Given the description of an element on the screen output the (x, y) to click on. 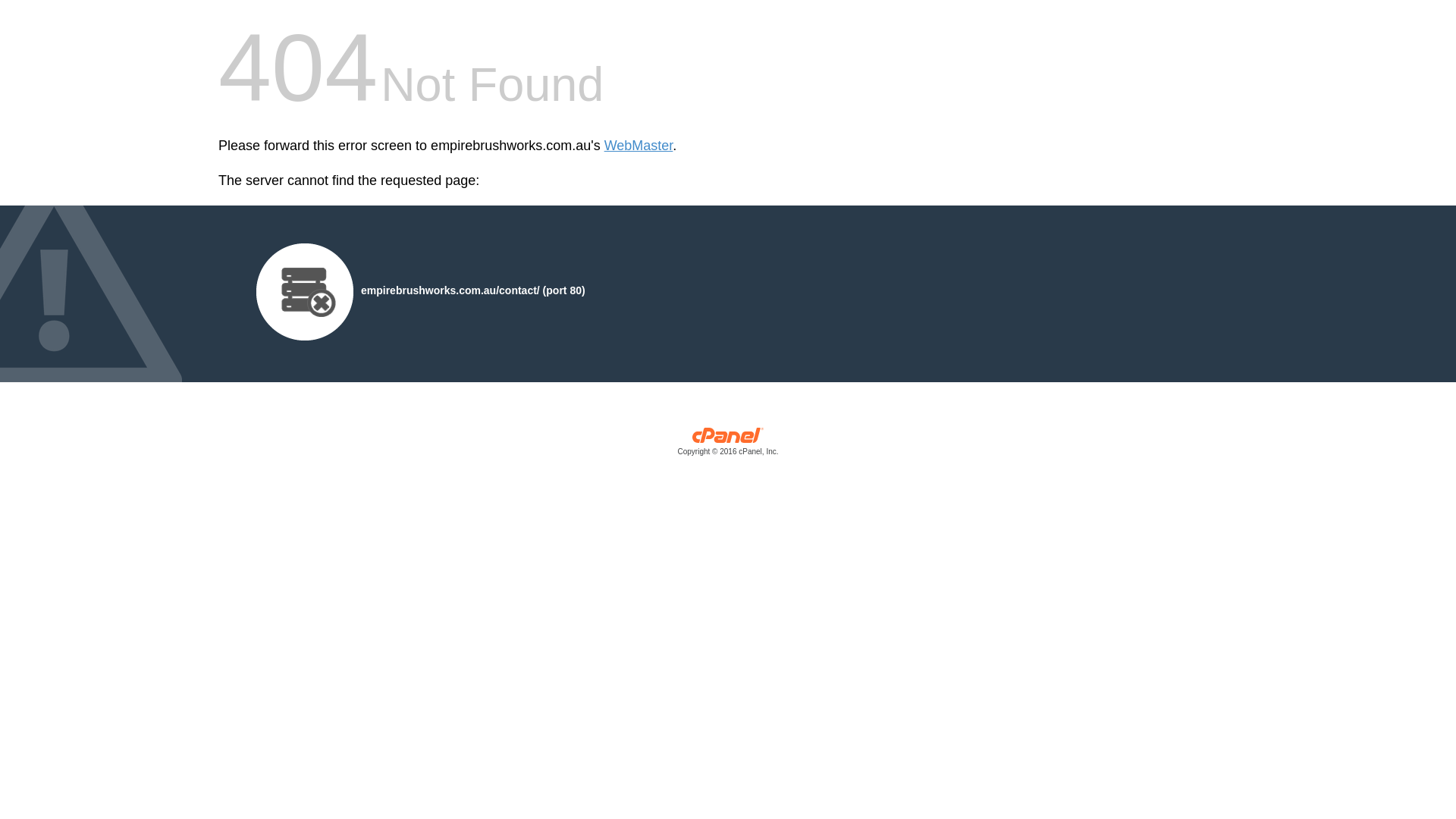
WebMaster Element type: text (638, 145)
